Given the description of an element on the screen output the (x, y) to click on. 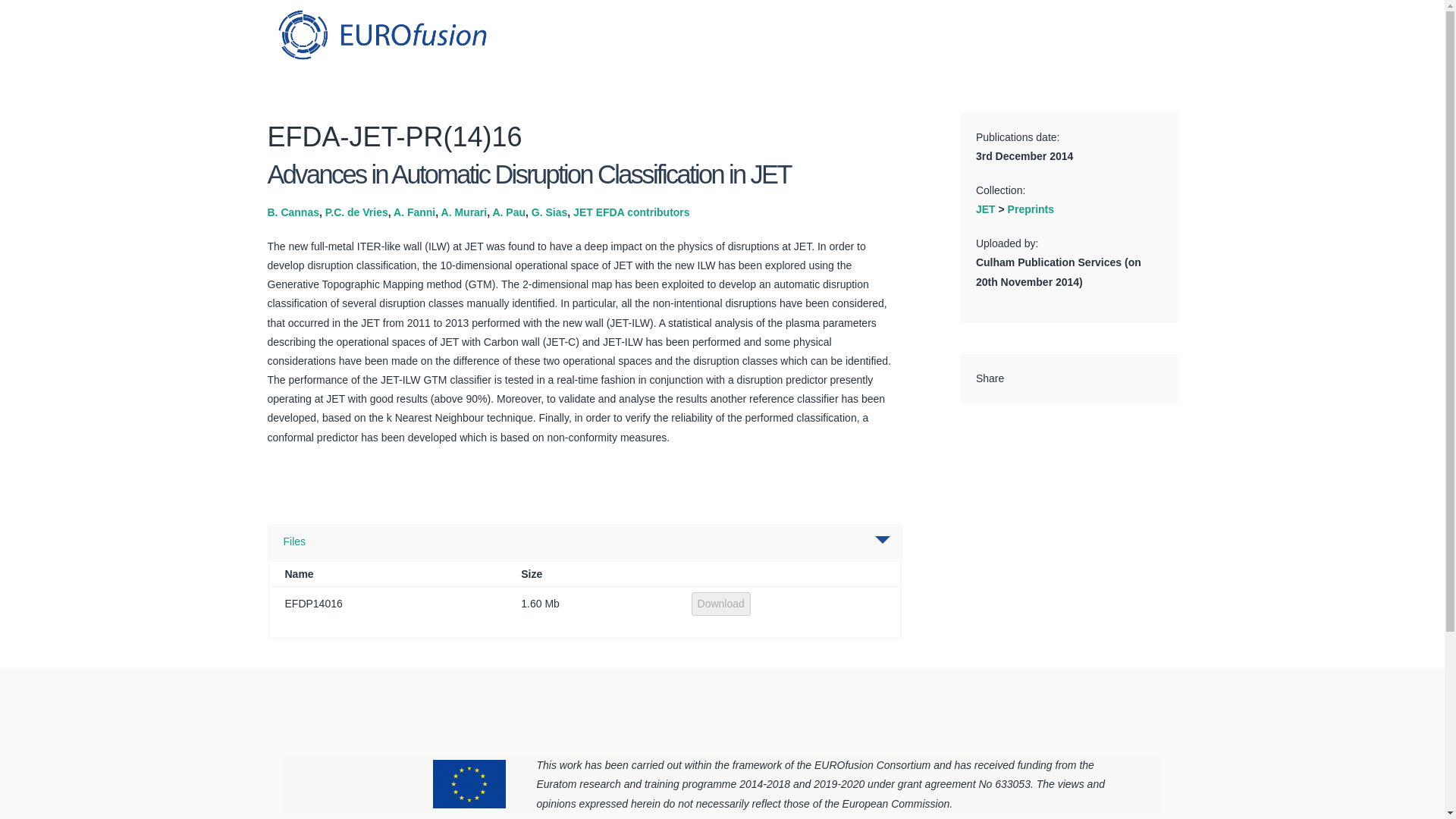
TEAM LISTS (990, 41)
B. Cannas (292, 212)
Files (294, 541)
Download (721, 603)
JET EFDA contributors (631, 212)
P.C. de Vries (356, 212)
EUROfusion Preprints and Conference Papers service (380, 34)
A. Fanni (414, 212)
G. Sias (549, 212)
Download (721, 603)
